Given the description of an element on the screen output the (x, y) to click on. 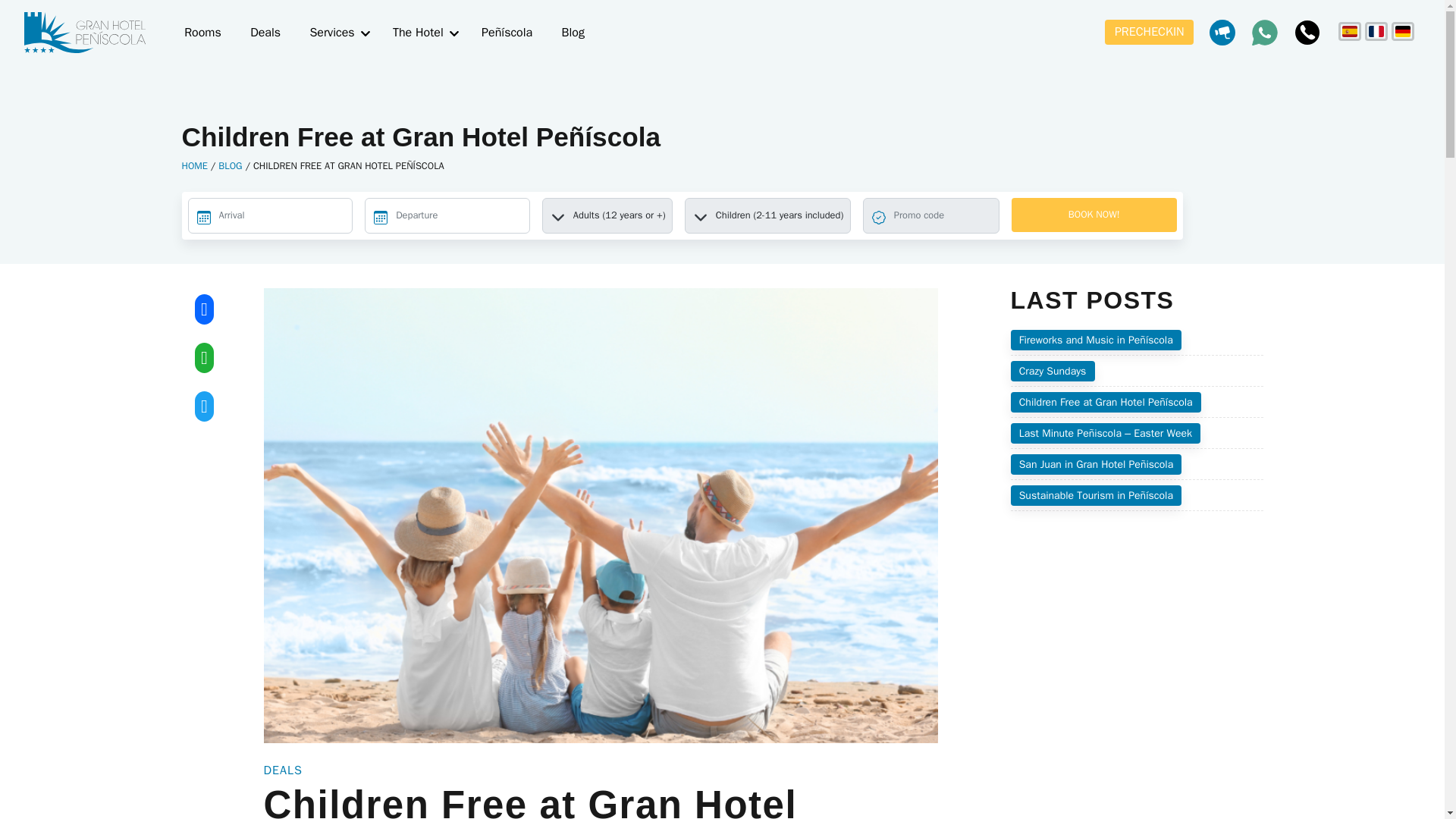
Deals (265, 32)
Services (331, 32)
PRECHECKIN (1149, 32)
Rooms (202, 32)
Blog (572, 32)
The Hotel (418, 32)
